Given the description of an element on the screen output the (x, y) to click on. 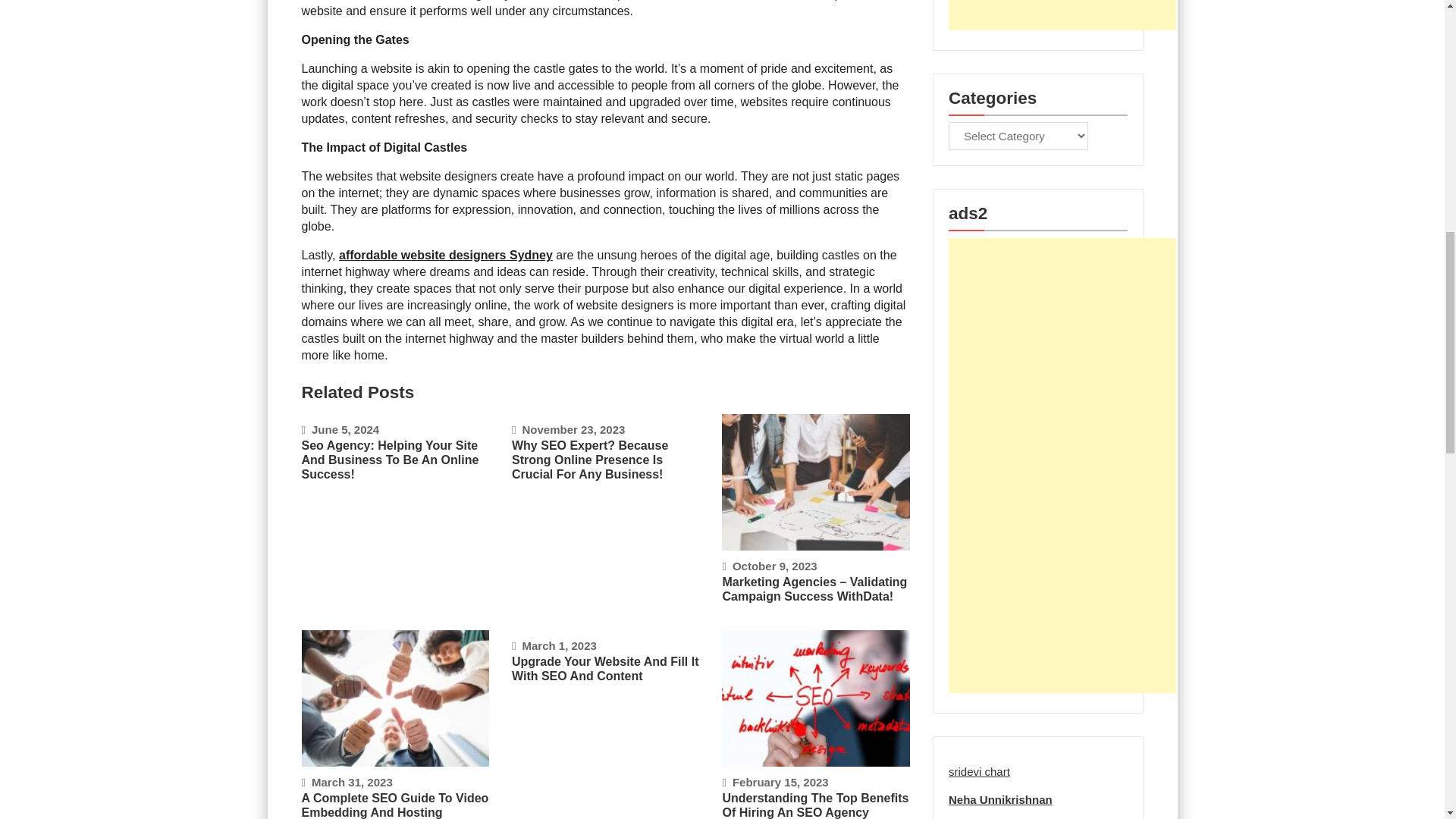
A Complete SEO Guide To Video Embedding And Hosting (395, 805)
Advertisement (1062, 15)
affordable website designers Sydney (446, 254)
